Given the description of an element on the screen output the (x, y) to click on. 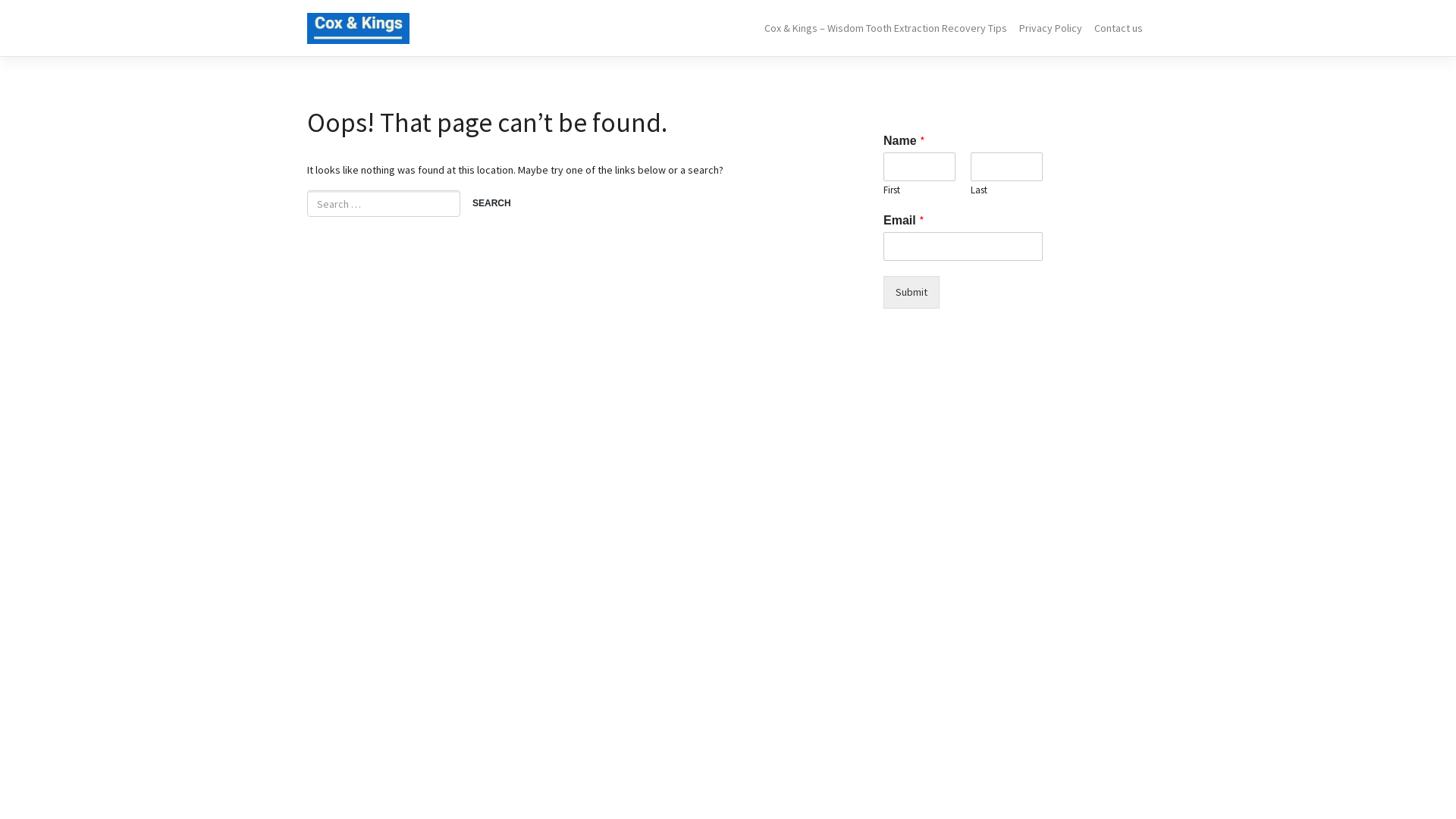
Contact us Element type: text (1118, 28)
Search Element type: text (491, 204)
Submit Element type: text (911, 292)
Search for: Element type: hover (383, 203)
Privacy Policy Element type: text (1050, 28)
